Given the description of an element on the screen output the (x, y) to click on. 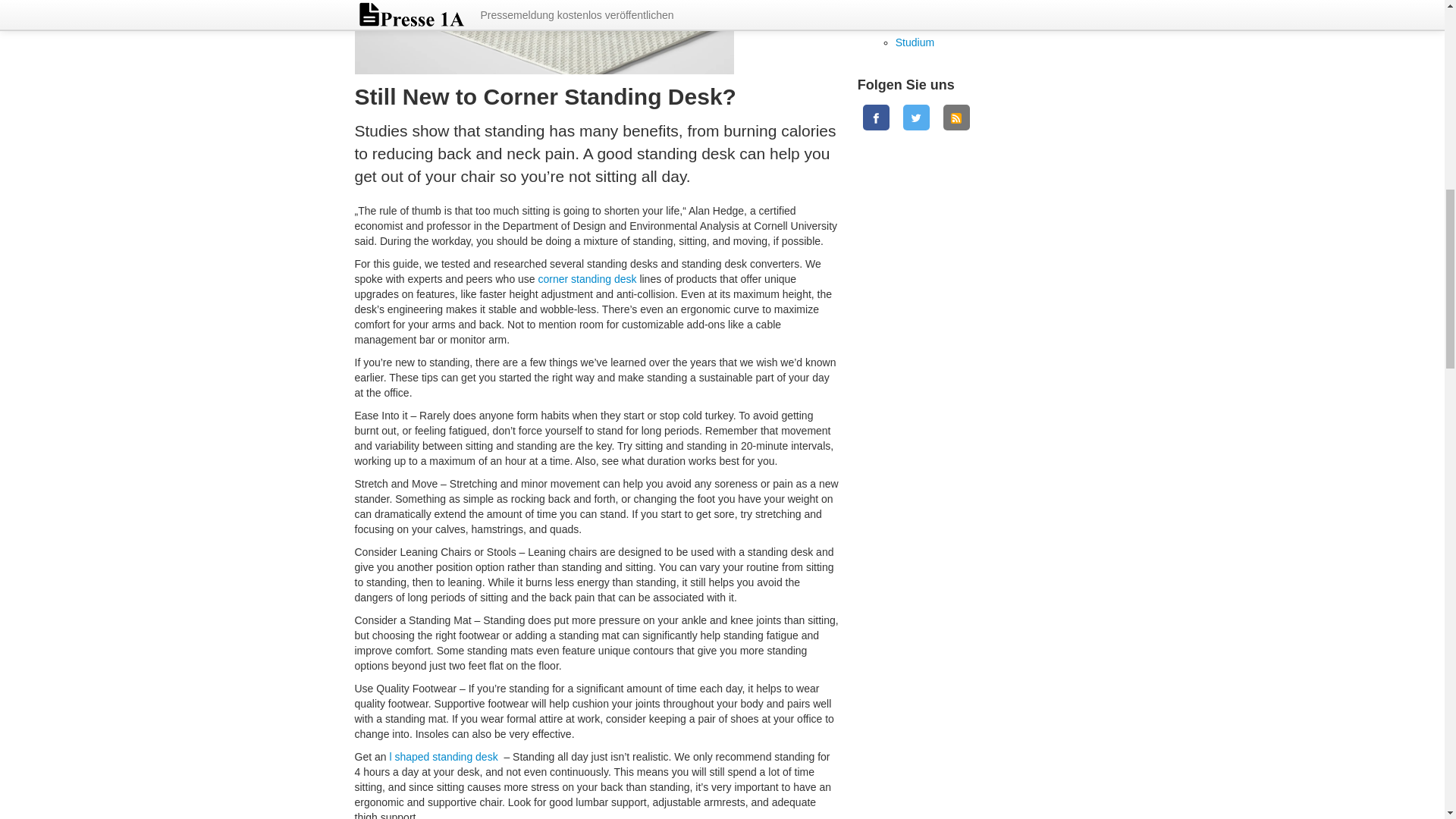
corner standing desk (587, 278)
Schule (911, 27)
Bildung (913, 11)
Studium (914, 42)
Wissenschaft (907, 1)
l shaped standing desk (442, 756)
